Given the description of an element on the screen output the (x, y) to click on. 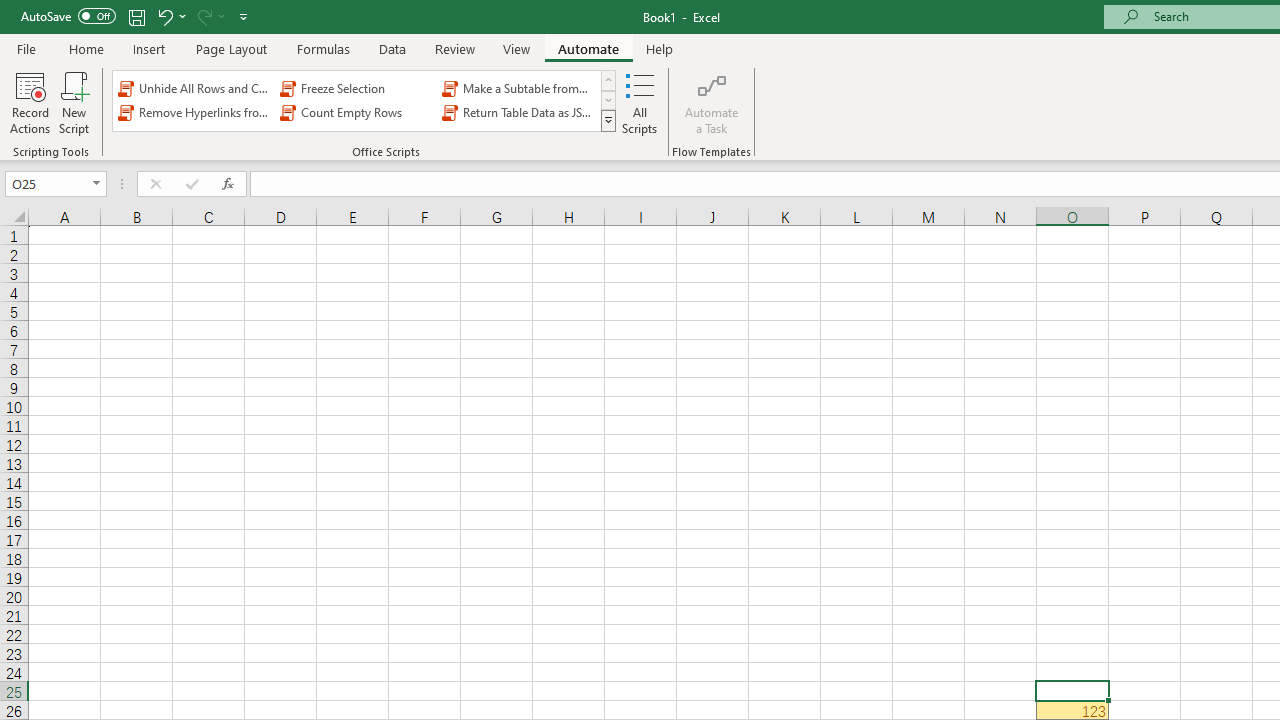
Count Empty Rows (356, 112)
Unhide All Rows and Columns (194, 88)
Return Table Data as JSON (518, 112)
